Given the description of an element on the screen output the (x, y) to click on. 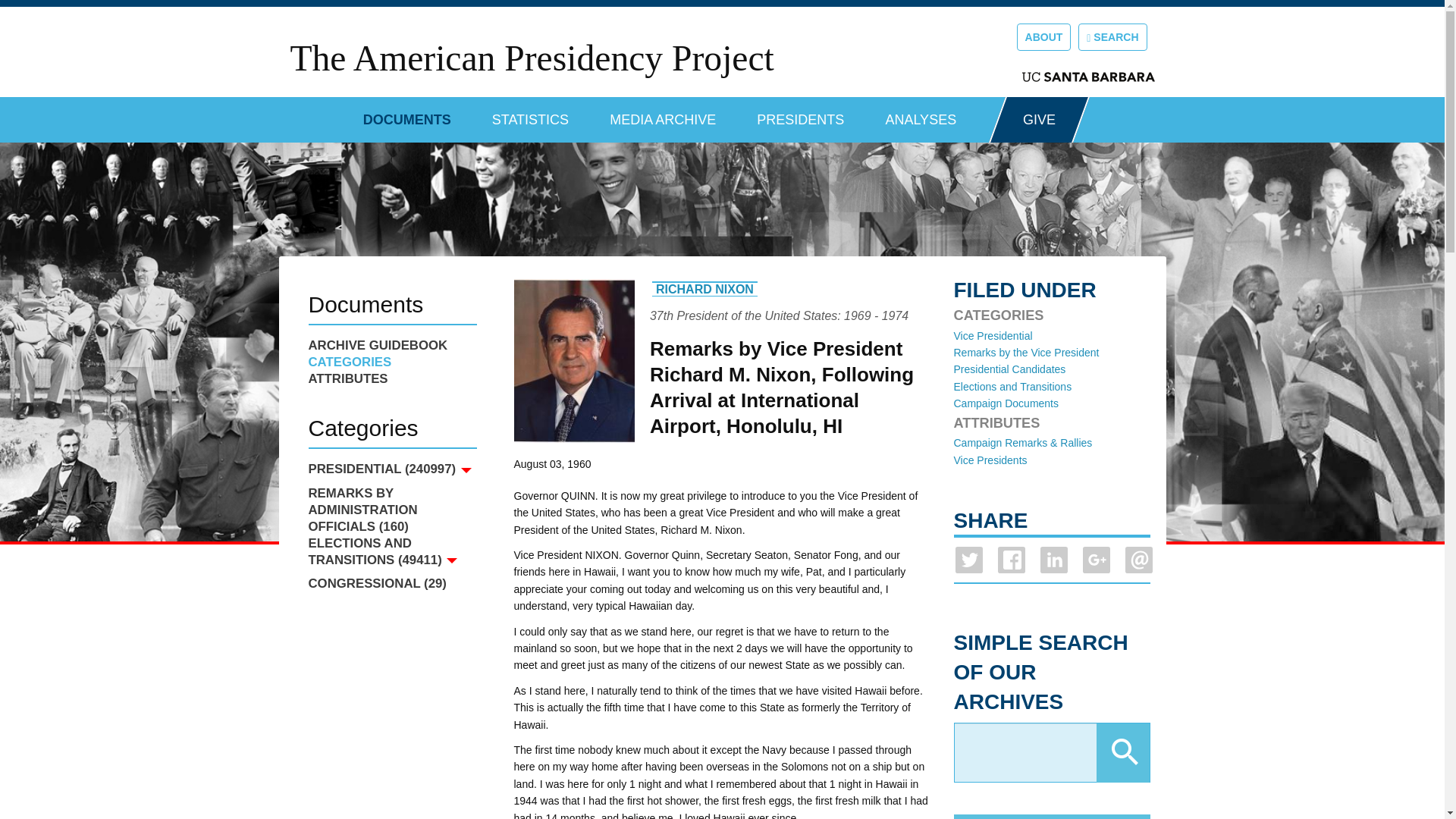
ANALYSES (920, 113)
ABOUT (1043, 36)
ARCHIVE GUIDEBOOK (391, 345)
PRESIDENTS (800, 113)
 SEARCH (1112, 36)
MEDIA ARCHIVE (663, 113)
CATEGORIES (391, 362)
DOCUMENTS (406, 113)
GIVE (1038, 119)
ATTRIBUTES (391, 379)
The American Presidency Project (531, 57)
STATISTICS (530, 113)
